Given the description of an element on the screen output the (x, y) to click on. 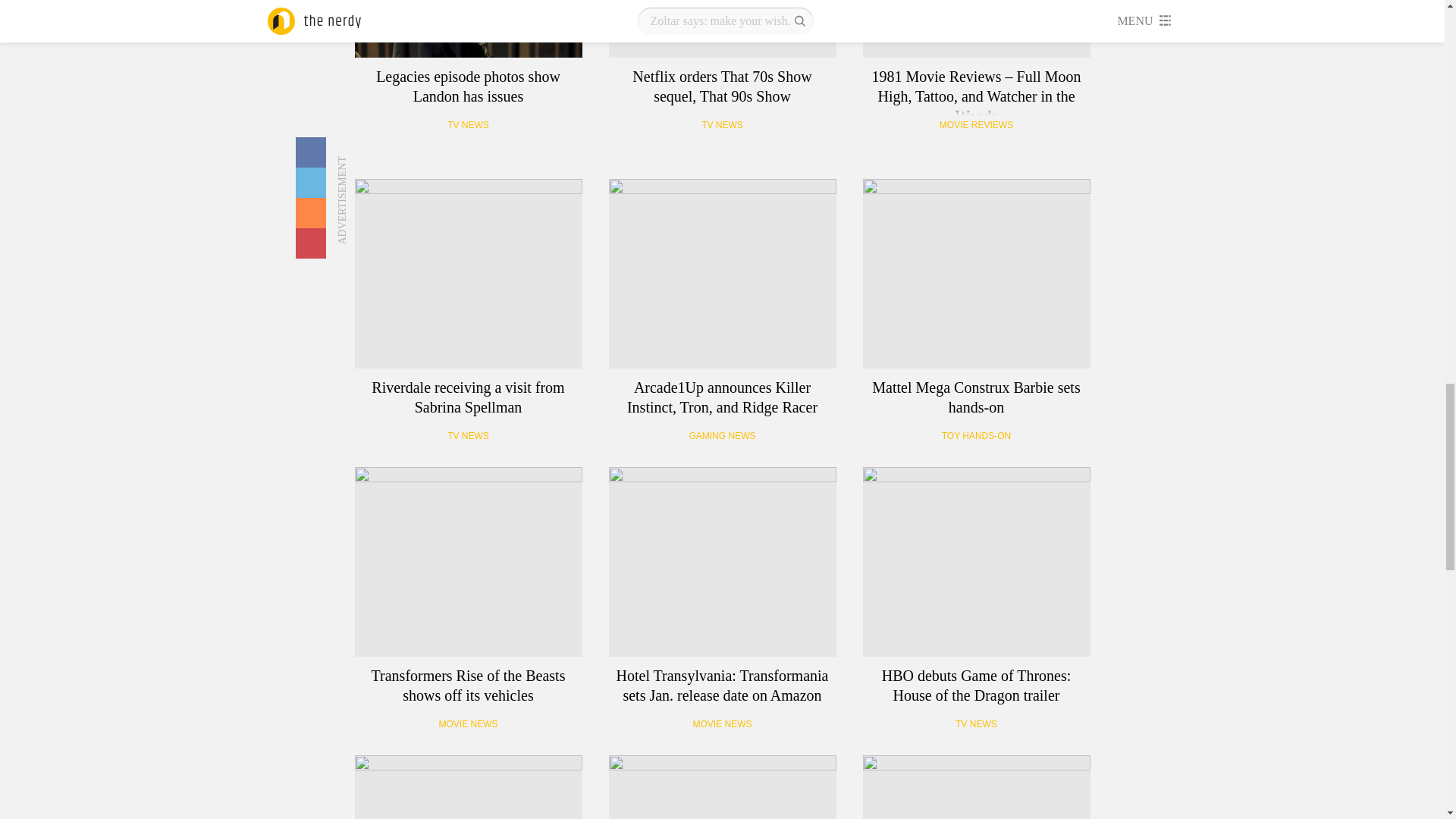
Legacies episode photos show Landon has issues (468, 28)
Netflix orders That 70s Show sequel, That 90s Show (721, 28)
Riverdale receiving a visit from Sabrina Spellman (468, 273)
Mattel Mega Construx Barbie sets hands-on (976, 273)
Arcade1Up announces Killer Instinct, Tron, and Ridge Racer (721, 273)
HBO debuts Game of Thrones: House of the Dragon trailer (976, 561)
Transformers Rise of the Beasts shows off its vehicles (468, 561)
Venom: Let There Be Carnage wins the weekend box office (721, 787)
